Given the description of an element on the screen output the (x, y) to click on. 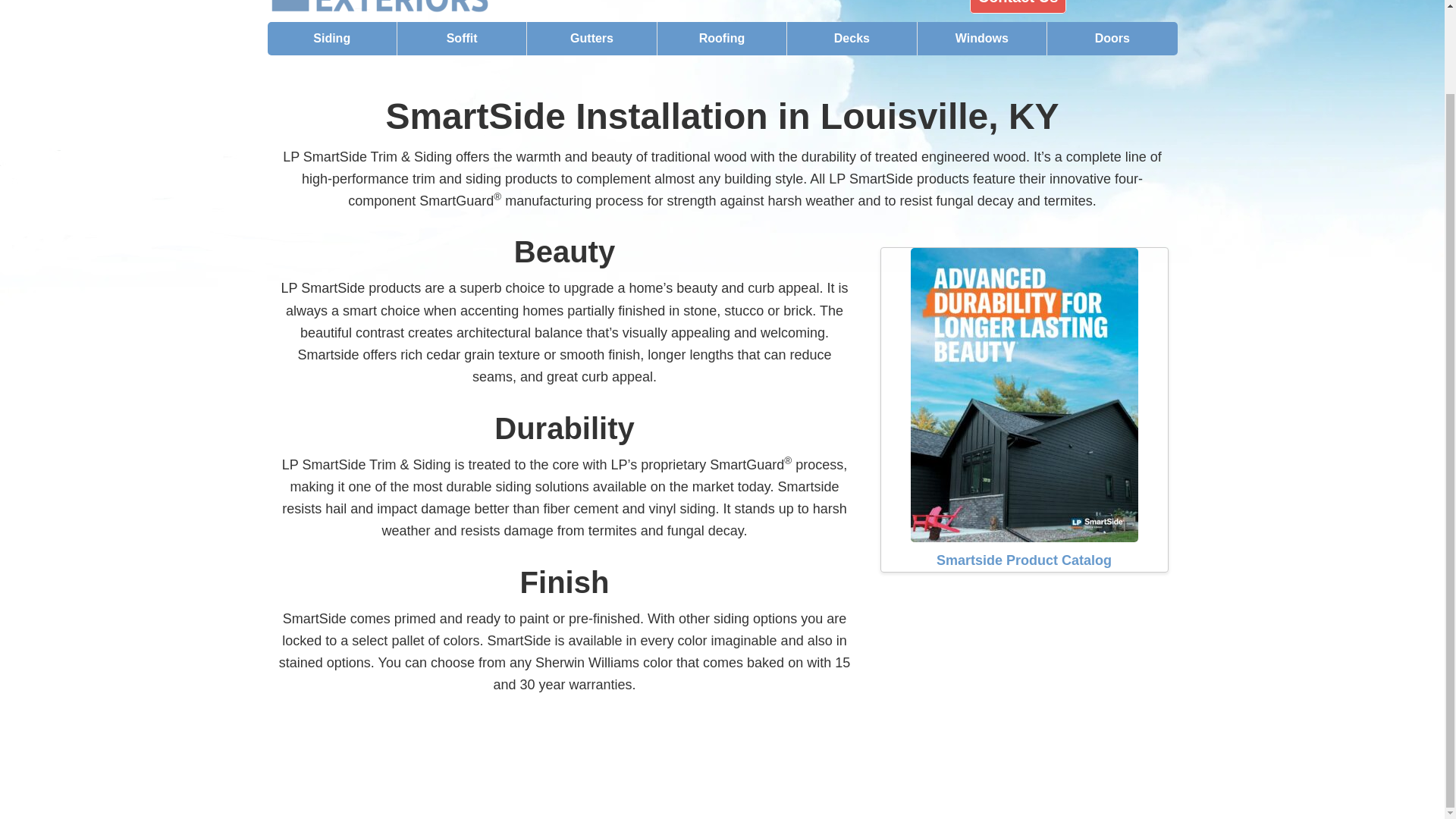
Smartside-Product-Catalog (1023, 395)
Contact Us (1018, 6)
Siding (331, 38)
Louisville Exteriors (403, 7)
Soffit (462, 38)
Gutters (591, 38)
